Given the description of an element on the screen output the (x, y) to click on. 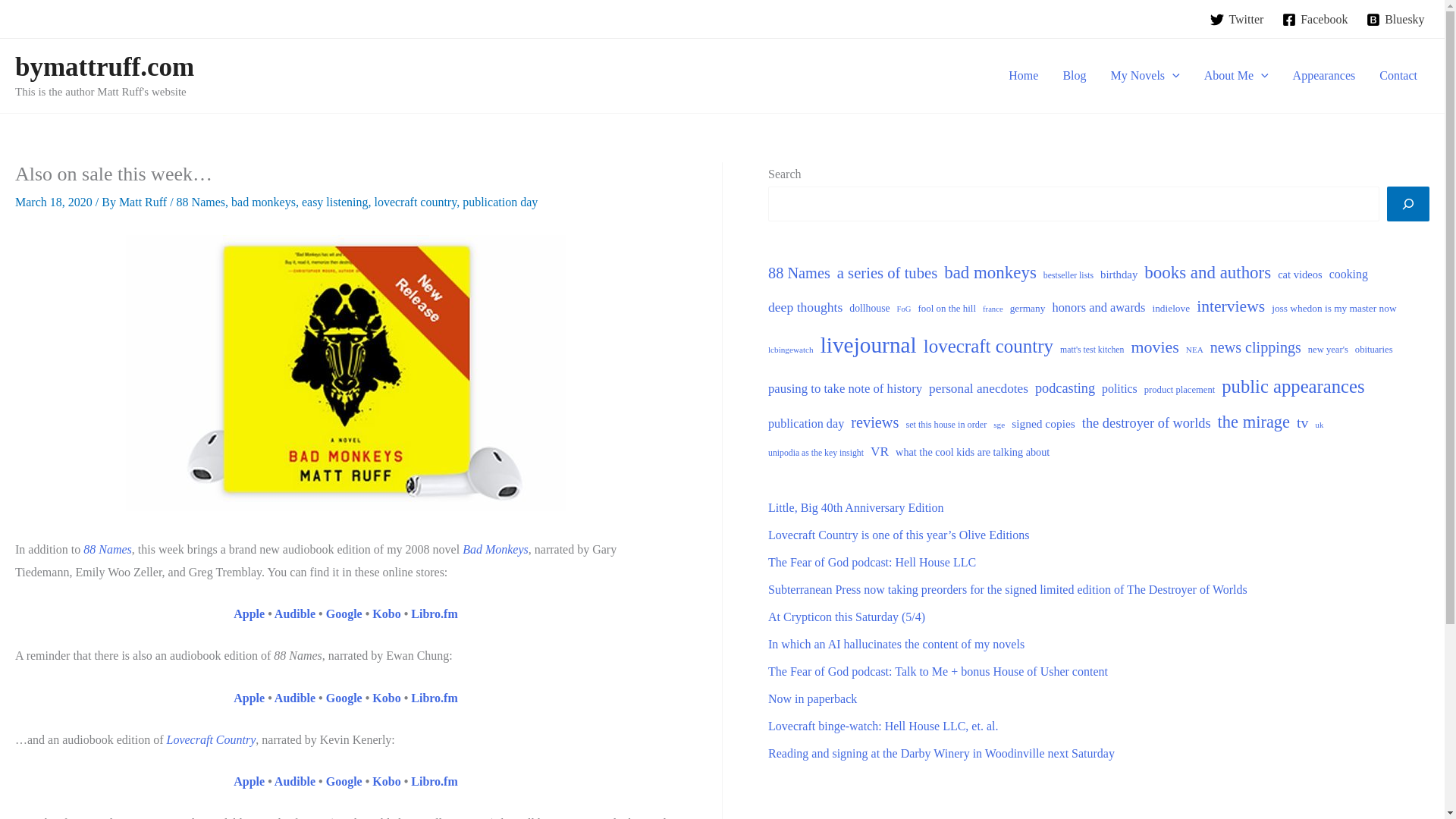
bymattruff.com (103, 66)
Facebook (1315, 19)
View all posts by Matt Ruff (144, 201)
About Me (1236, 75)
Appearances (1324, 75)
My Novels (1145, 75)
Bluesky (1395, 19)
Twitter (1236, 19)
Contact (1398, 75)
